Given the description of an element on the screen output the (x, y) to click on. 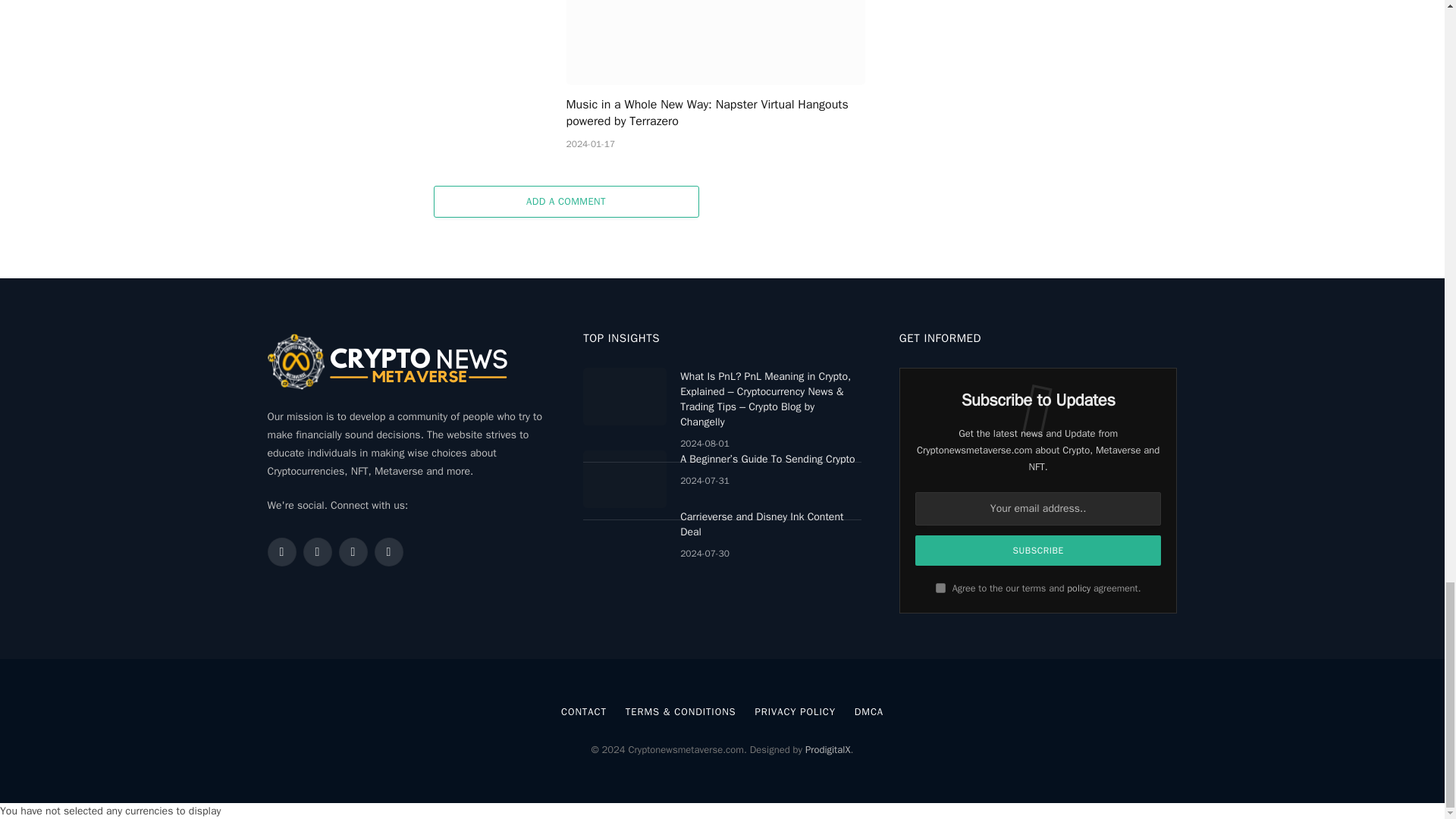
on (940, 587)
Subscribe (1038, 550)
